Given the description of an element on the screen output the (x, y) to click on. 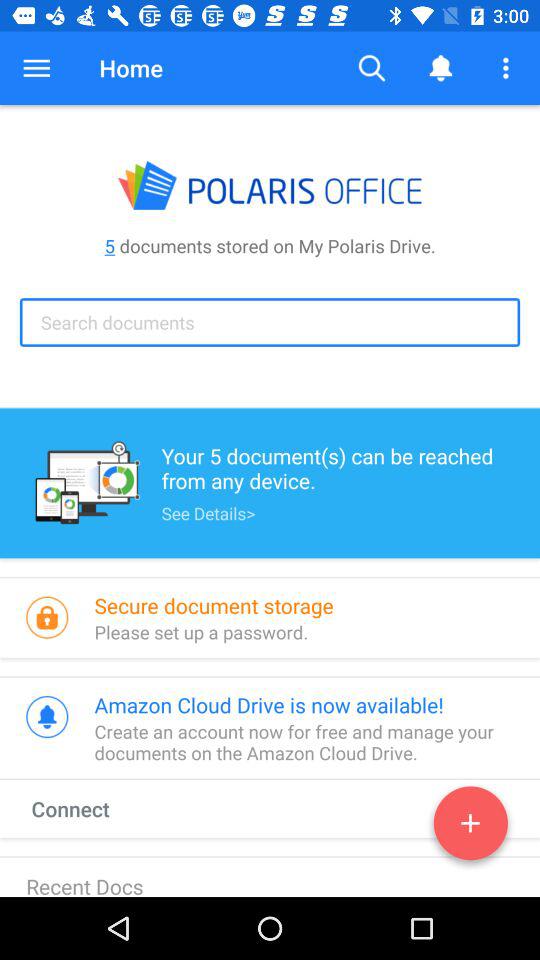
open the icon above the 5 documents stored item (36, 68)
